Given the description of an element on the screen output the (x, y) to click on. 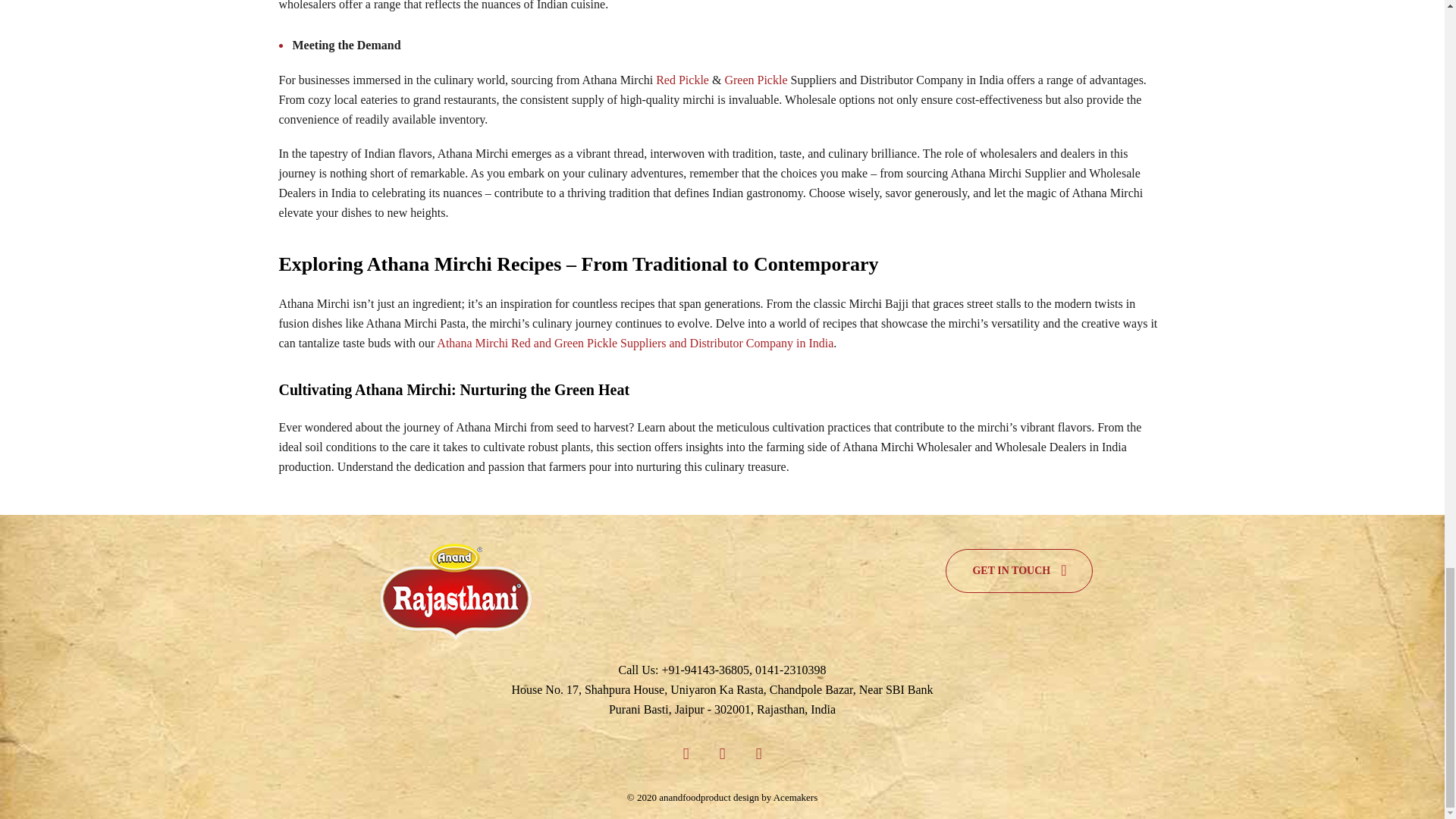
Facebook (685, 752)
Twitter (721, 752)
Instagram (758, 752)
